Given the description of an element on the screen output the (x, y) to click on. 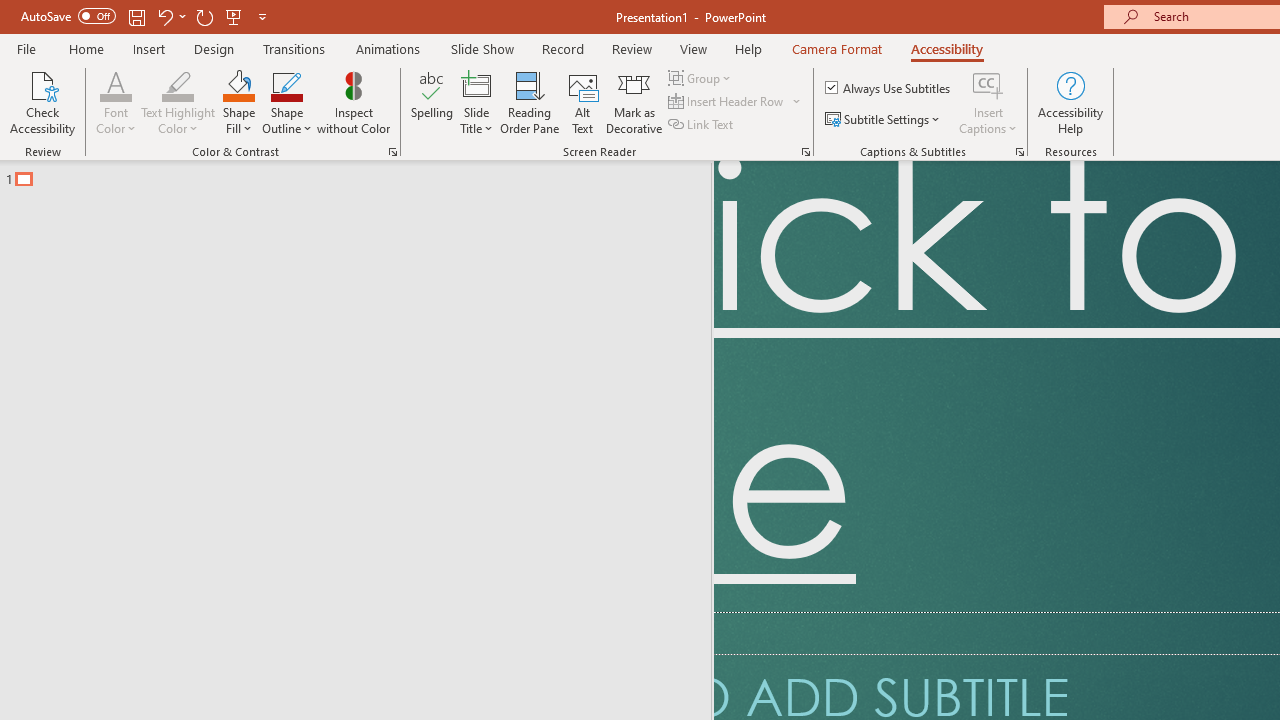
Link Text (702, 124)
